Given the description of an element on the screen output the (x, y) to click on. 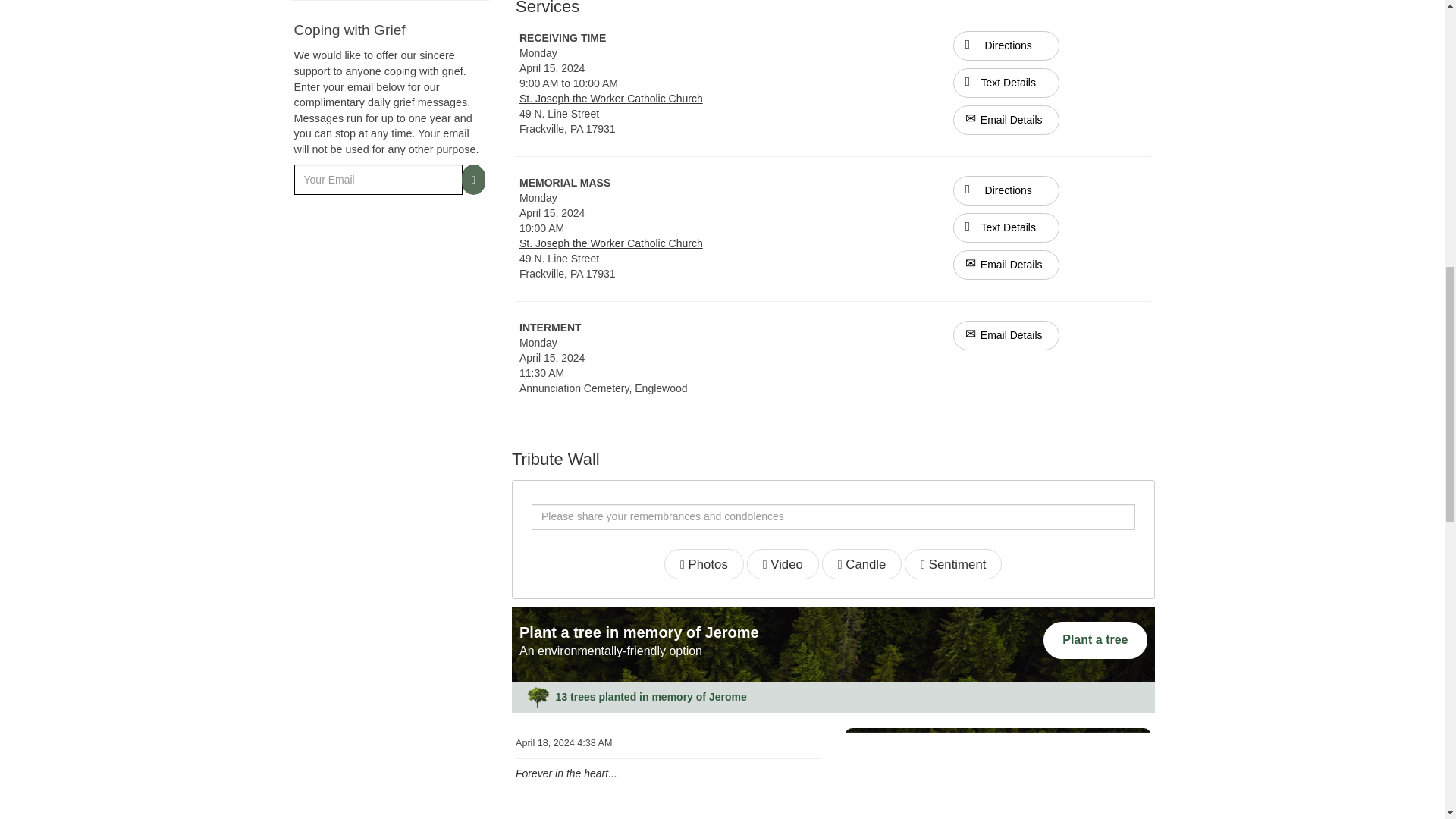
Directions (1006, 190)
Directions (1006, 45)
St. Joseph the Worker Catholic Church (611, 98)
Plant a tree (1095, 639)
Email Details (1006, 335)
Directions (1006, 44)
Plant a tree (1095, 640)
Text Details (1006, 82)
Text Details (1006, 227)
Email Details (1006, 120)
Directions (1006, 189)
Email Details (1006, 265)
St. Joseph the Worker Catholic Church (611, 243)
